Given the description of an element on the screen output the (x, y) to click on. 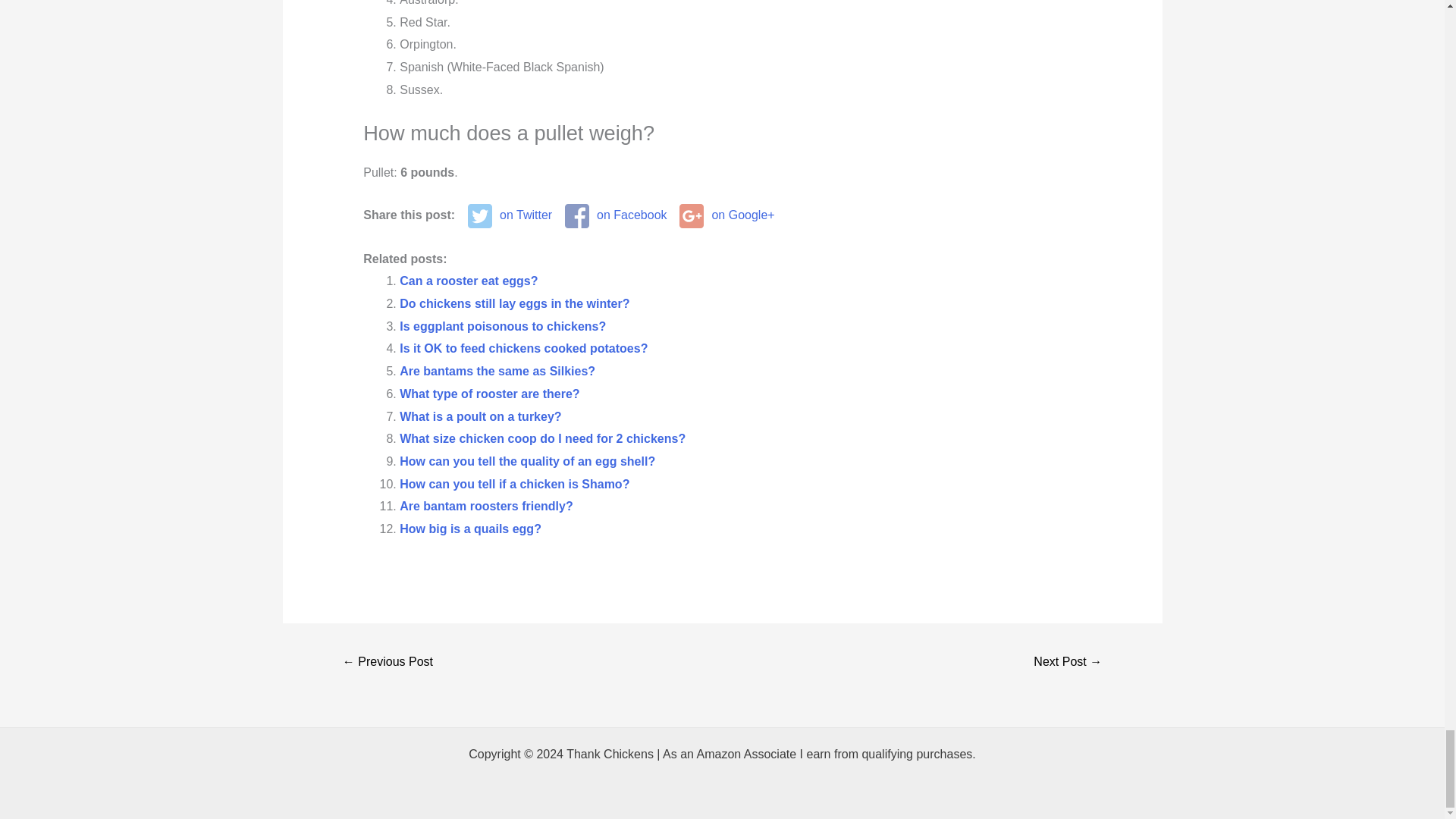
What is a poult on a turkey? (479, 415)
Do chickens still lay eggs in the winter? (513, 303)
Are bantams the same as Silkies? (496, 370)
What size chicken coop do I need for 2 chickens? (541, 438)
Do chickens still lay eggs in the winter? (513, 303)
Can a rooster eat eggs? (467, 280)
What type of rooster are there? (488, 393)
Is it OK to feed chickens cooked potatoes? (522, 348)
Can a rooster eat eggs? (467, 280)
on Facebook (615, 215)
